Given the description of an element on the screen output the (x, y) to click on. 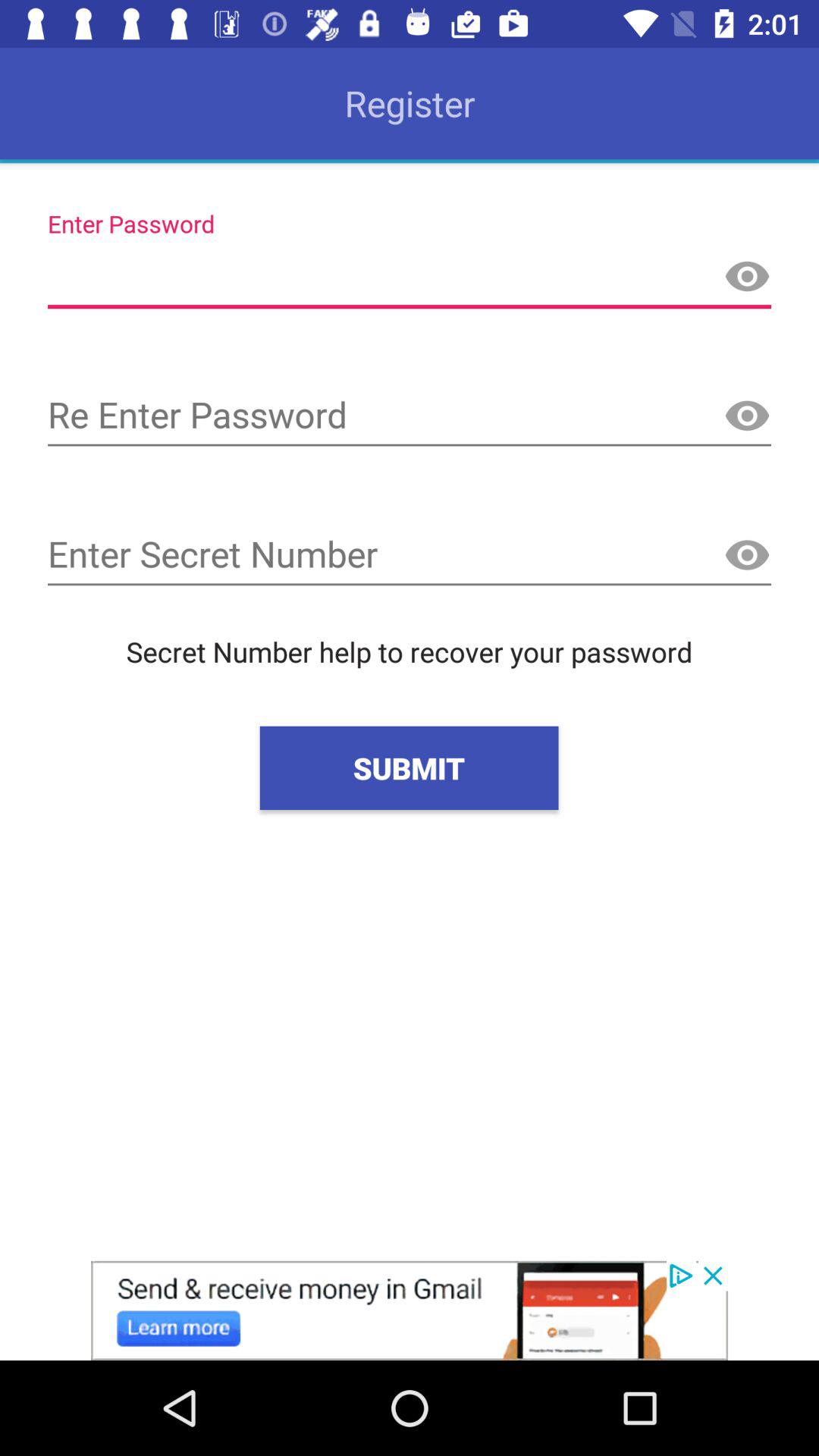
advertisement (409, 1310)
